Given the description of an element on the screen output the (x, y) to click on. 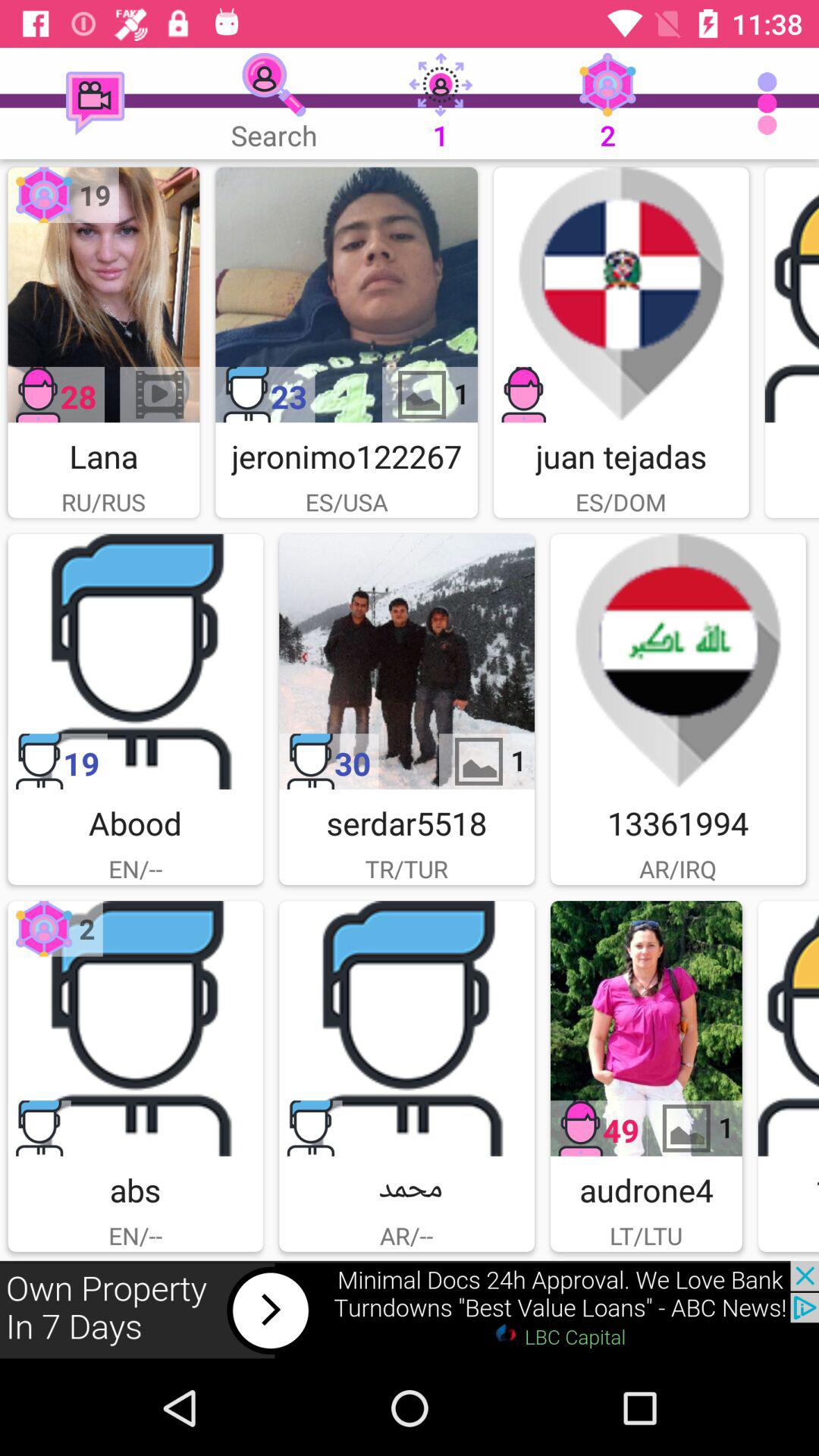
it 's an user posted picture (791, 294)
